Given the description of an element on the screen output the (x, y) to click on. 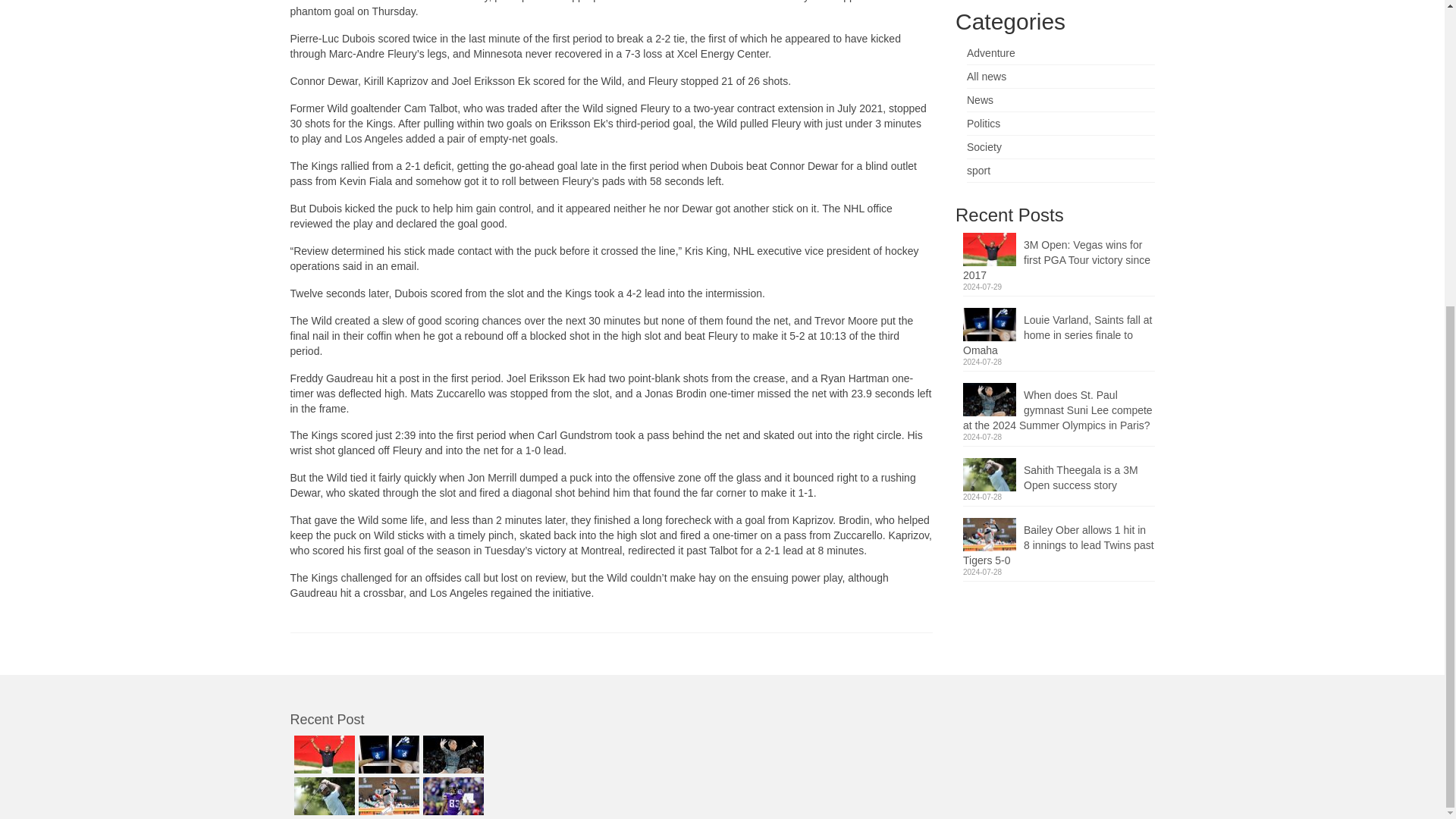
Sahith Theegala is a 3M Open success story (1058, 475)
3M Open: Vegas wins for first PGA Tour victory since 2017 (1058, 257)
sport (978, 170)
3M Open: Vegas wins for first PGA Tour victory since 2017 (321, 754)
Sahith Theegala is a 3M Open success story (321, 795)
Society (983, 146)
Sahith Theegala is a 3M Open success story (1058, 475)
3M Open: Vegas wins for first PGA Tour victory since 2017 (1058, 257)
All news (986, 76)
News (979, 100)
Louie Varland, Saints fall at home in series finale to Omaha (1058, 332)
Adventure (990, 52)
Louie Varland, Saints fall at home in series finale to Omaha (1058, 332)
